Given the description of an element on the screen output the (x, y) to click on. 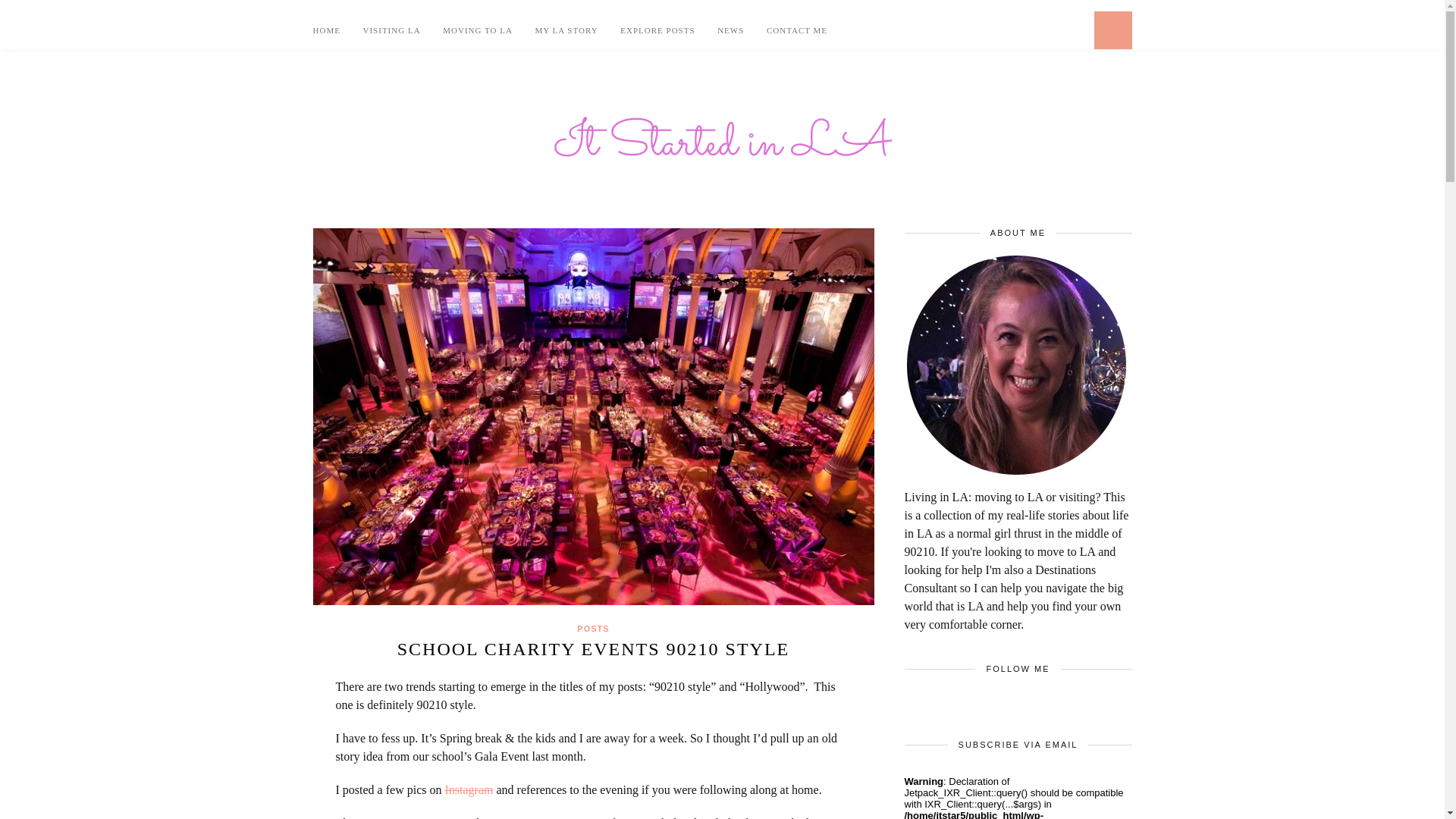
MY LA STORY (566, 30)
CONTACT ME (797, 30)
MOVING TO LA (477, 30)
EXPLORE POSTS (657, 30)
VISITING LA (391, 30)
